Given the description of an element on the screen output the (x, y) to click on. 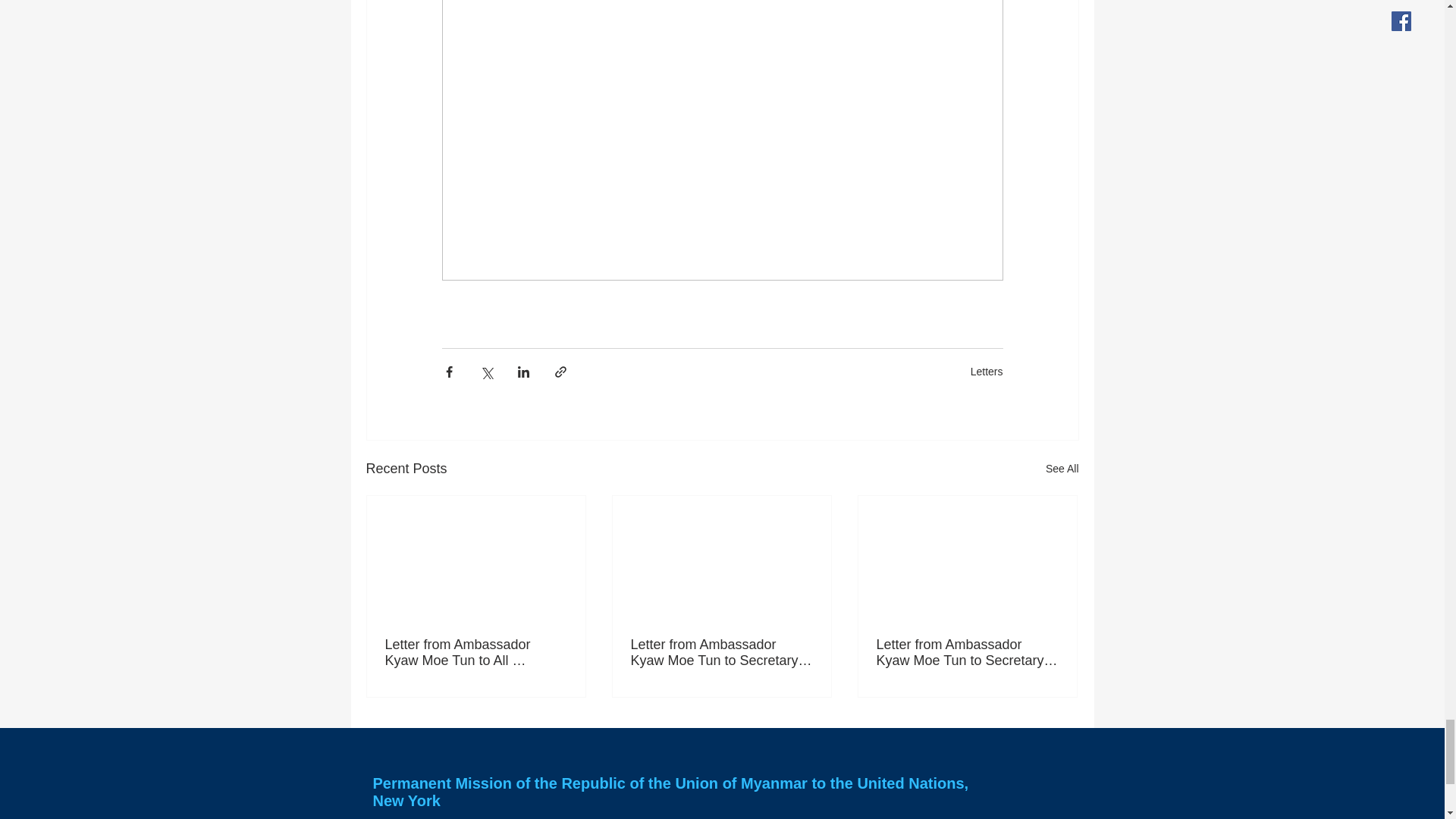
See All (1061, 468)
Letters (987, 371)
